Given the description of an element on the screen output the (x, y) to click on. 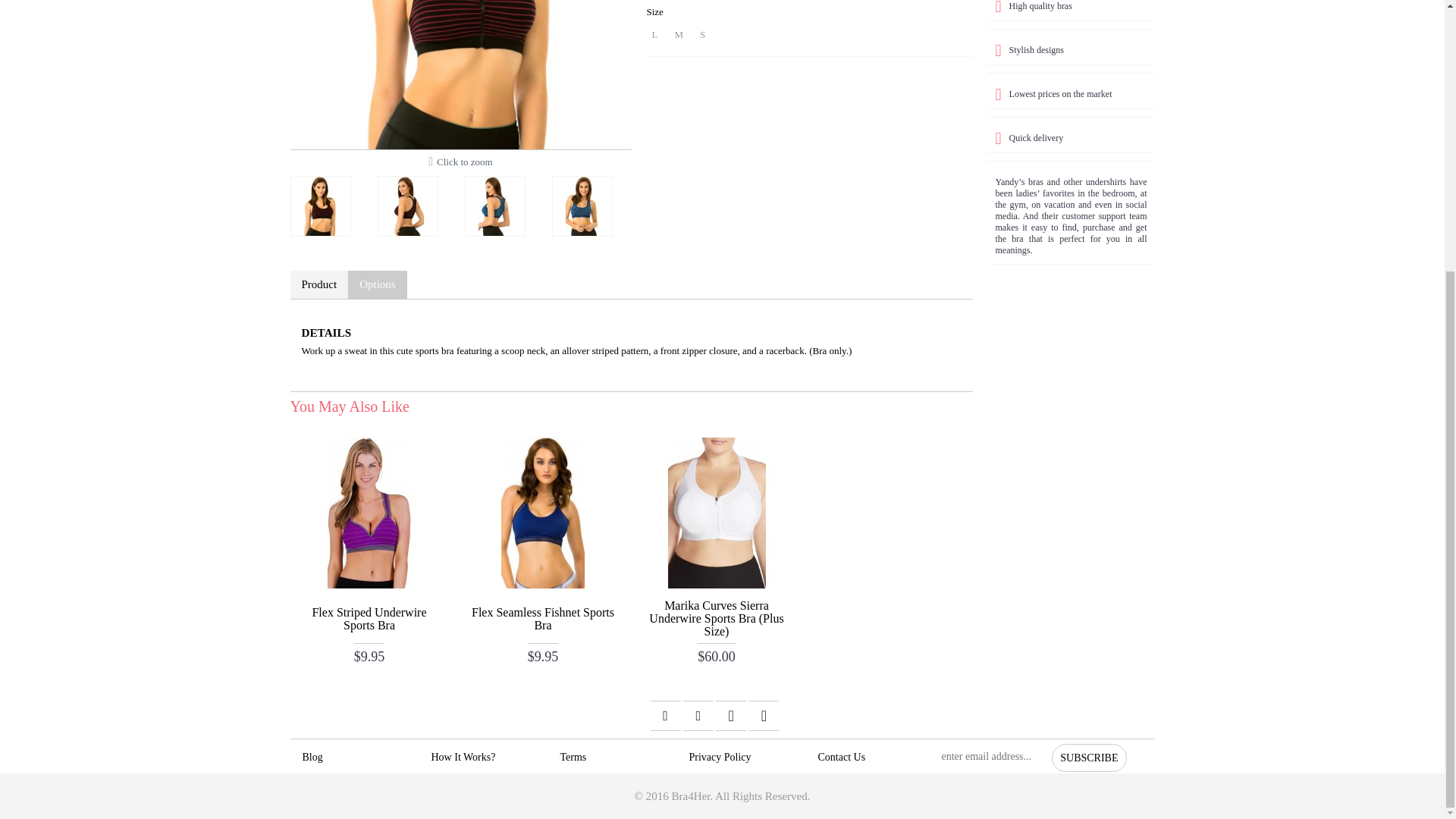
Options (377, 284)
Terms (608, 757)
Blog (350, 757)
Flex Striped Zipper Front Sports Bra YFX-5591 (585, 202)
Contact Us (865, 757)
Product (318, 284)
Flex Striped Zipper Front Sports Bra YFX-5591 (323, 202)
Flex Seamless Fishnet Sports Bra (542, 616)
Flex Striped Zipper Front Sports Bra YFX-5591 (411, 202)
Privacy Policy (737, 757)
